Given the description of an element on the screen output the (x, y) to click on. 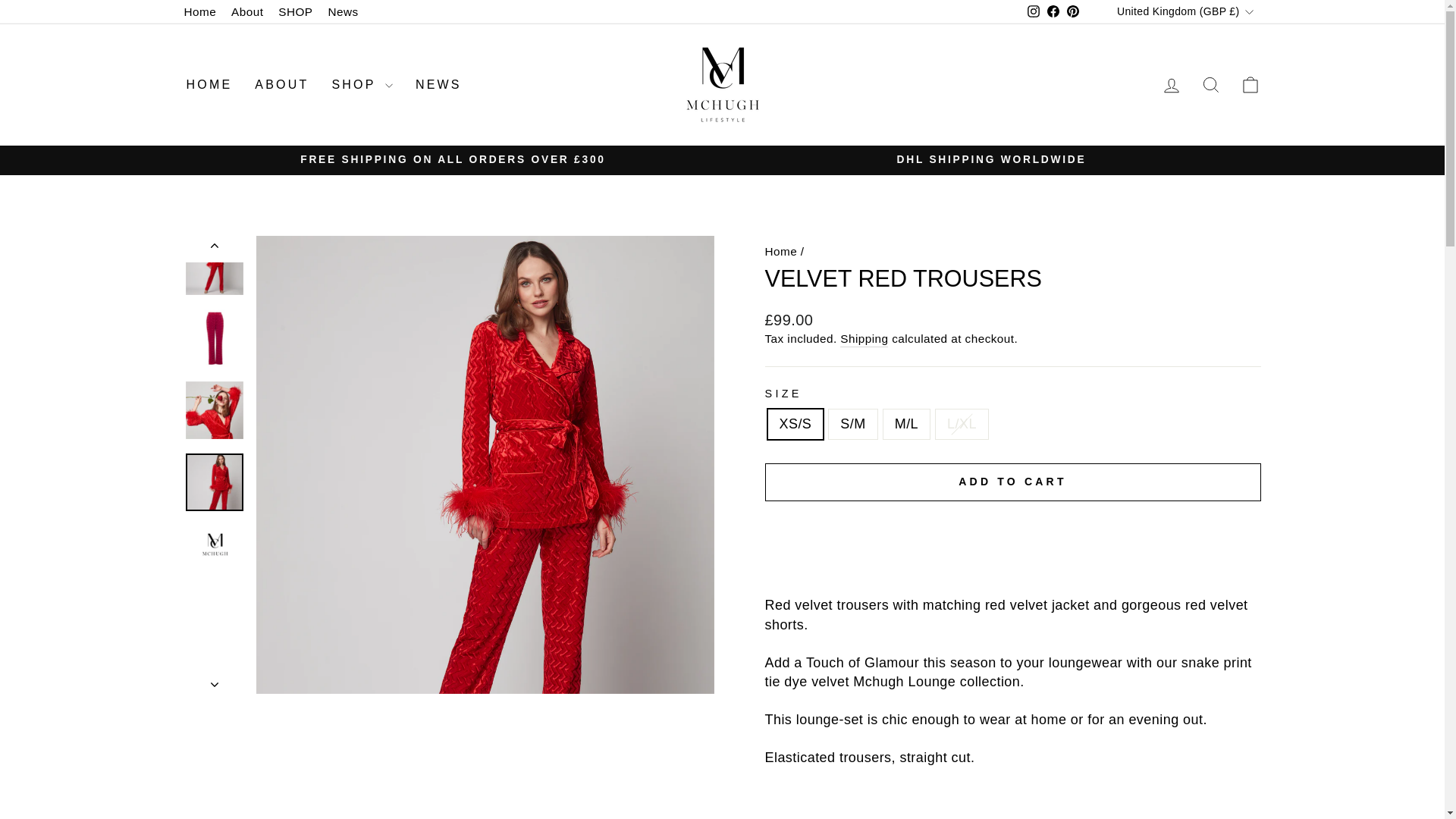
ICON-SEARCH (1210, 84)
icon-chevron (214, 684)
ICON-BAG-MINIMAL (1249, 84)
About (247, 11)
instagram (1033, 10)
Home (200, 11)
News (342, 11)
SHOP (295, 11)
ACCOUNT (1170, 85)
Back to the frontpage (780, 250)
